Given the description of an element on the screen output the (x, y) to click on. 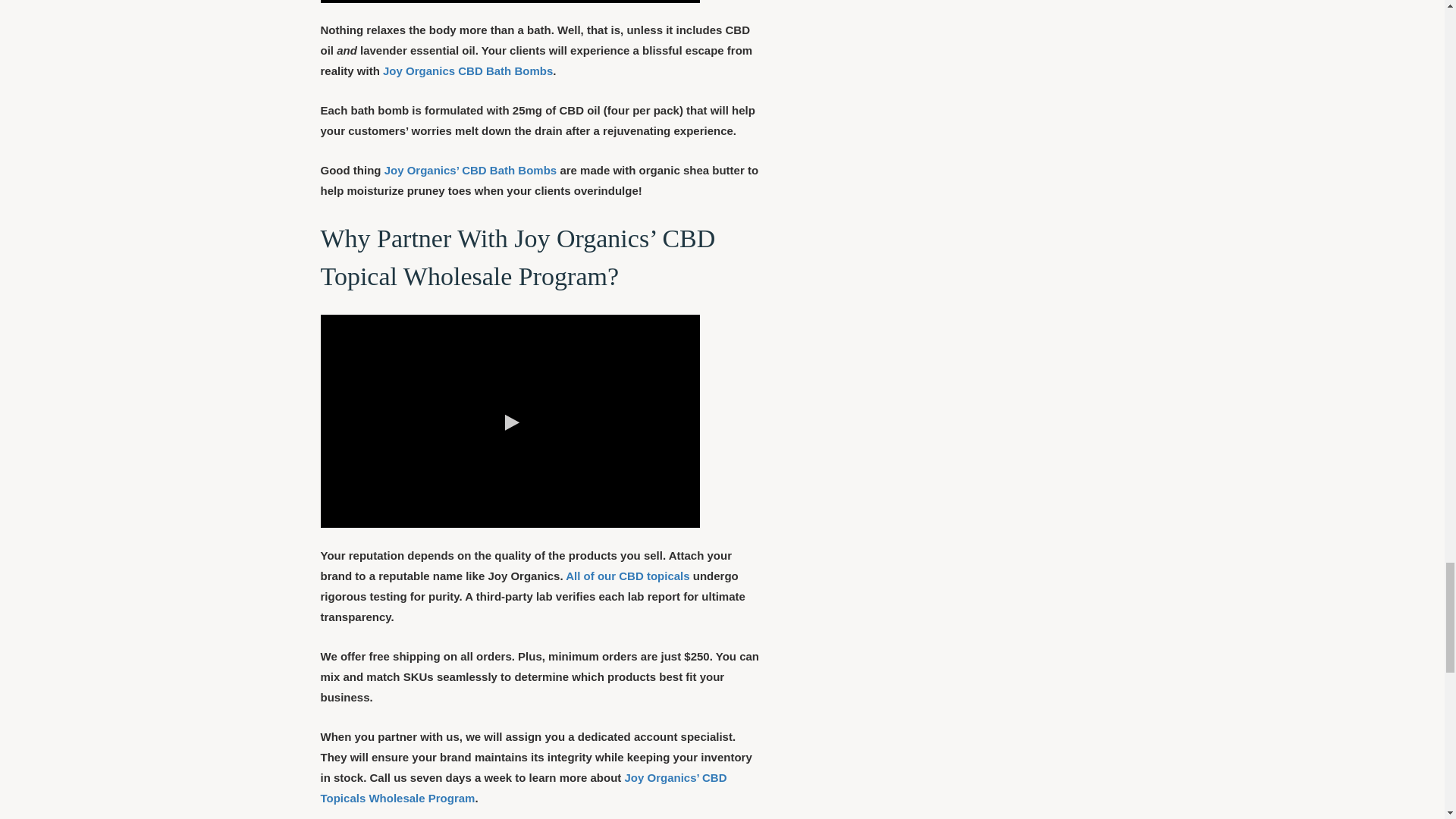
Joy Organics Wholesale CBD Program (509, 420)
